Given the description of an element on the screen output the (x, y) to click on. 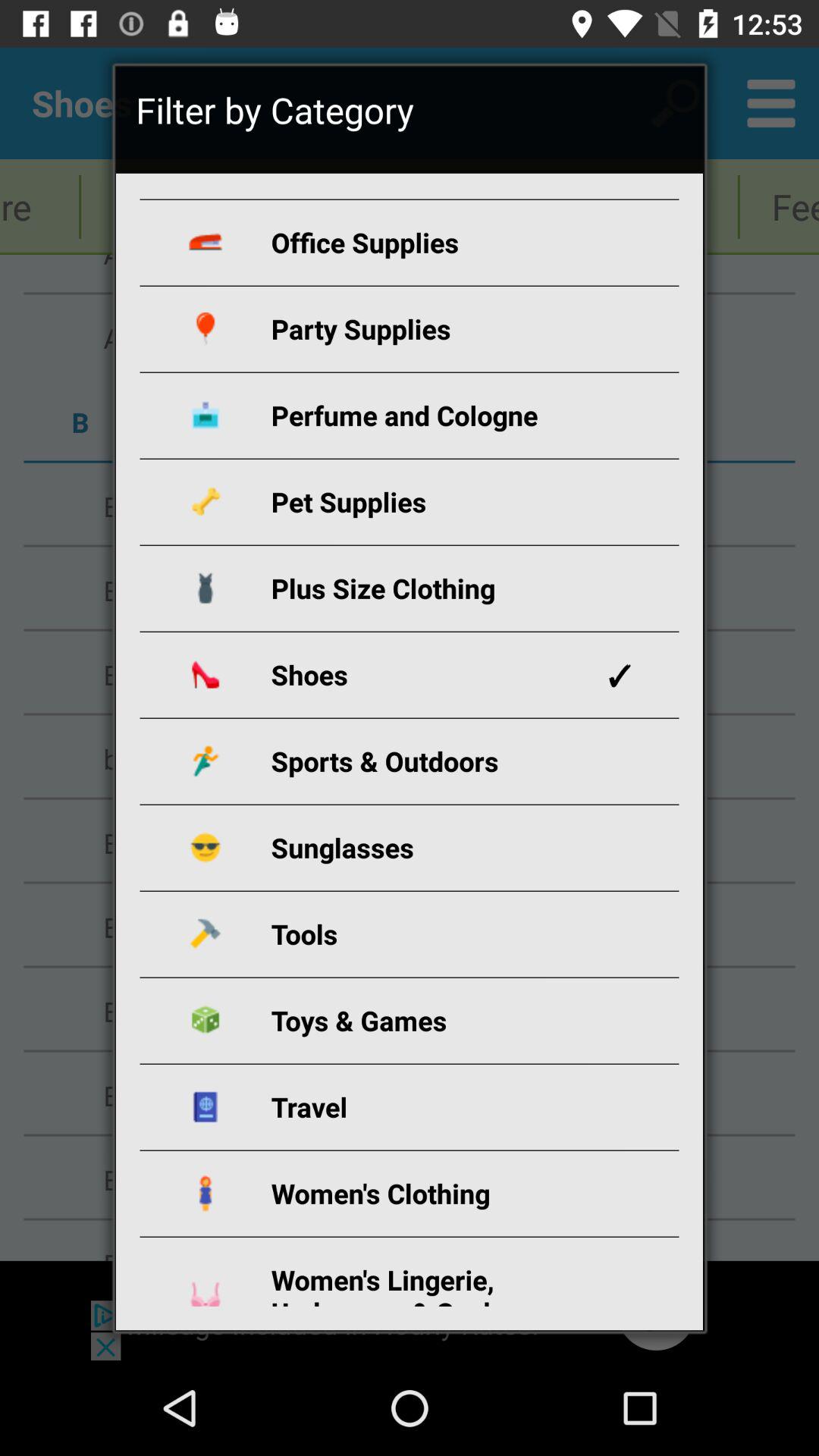
click app below the filter by category app (427, 242)
